Given the description of an element on the screen output the (x, y) to click on. 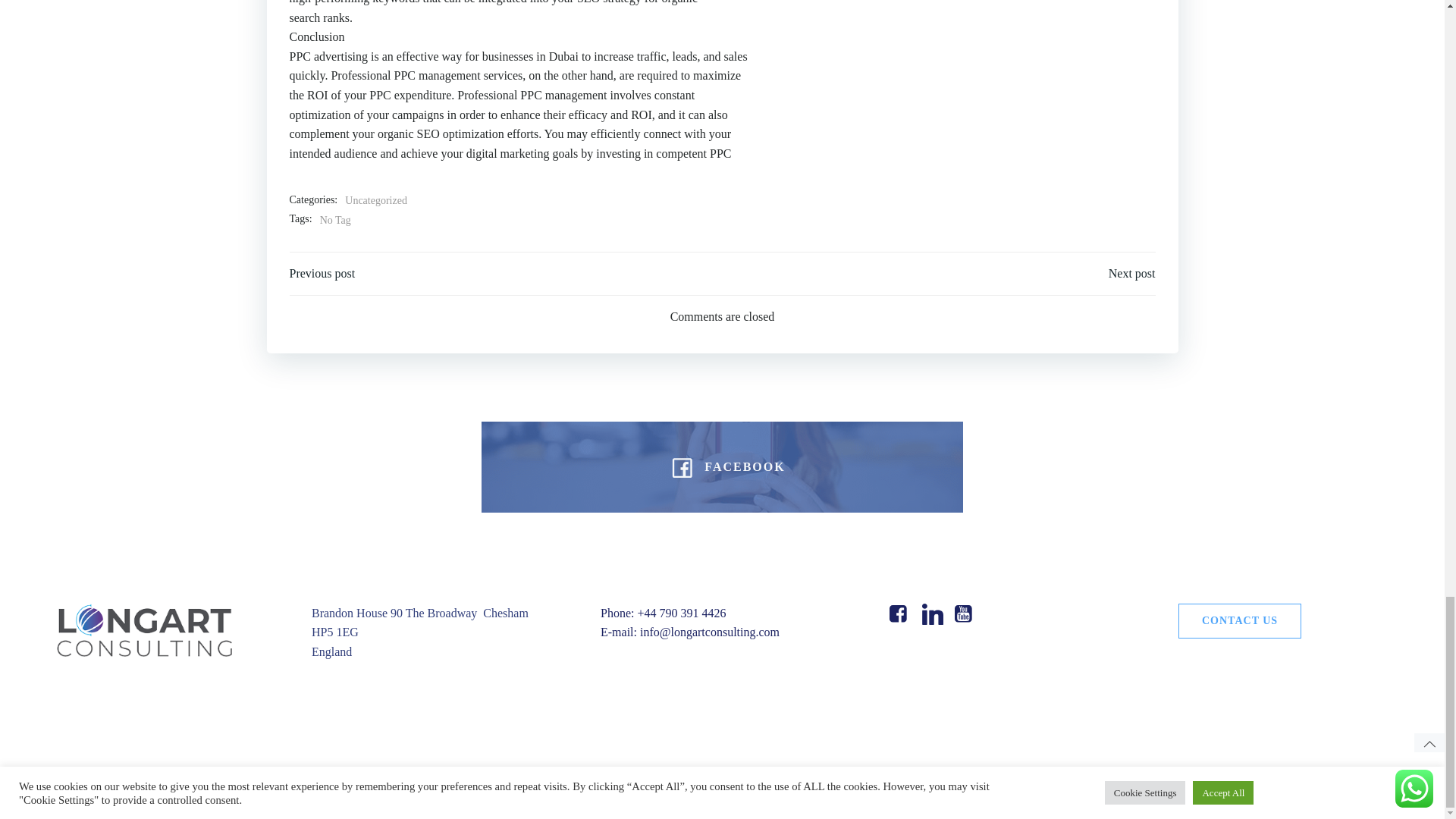
Previous post (322, 273)
Next post (1132, 273)
CONTACT US (1239, 620)
Privacy Policy (792, 784)
Uncategorized (376, 200)
FACEBOOK (721, 467)
